Given the description of an element on the screen output the (x, y) to click on. 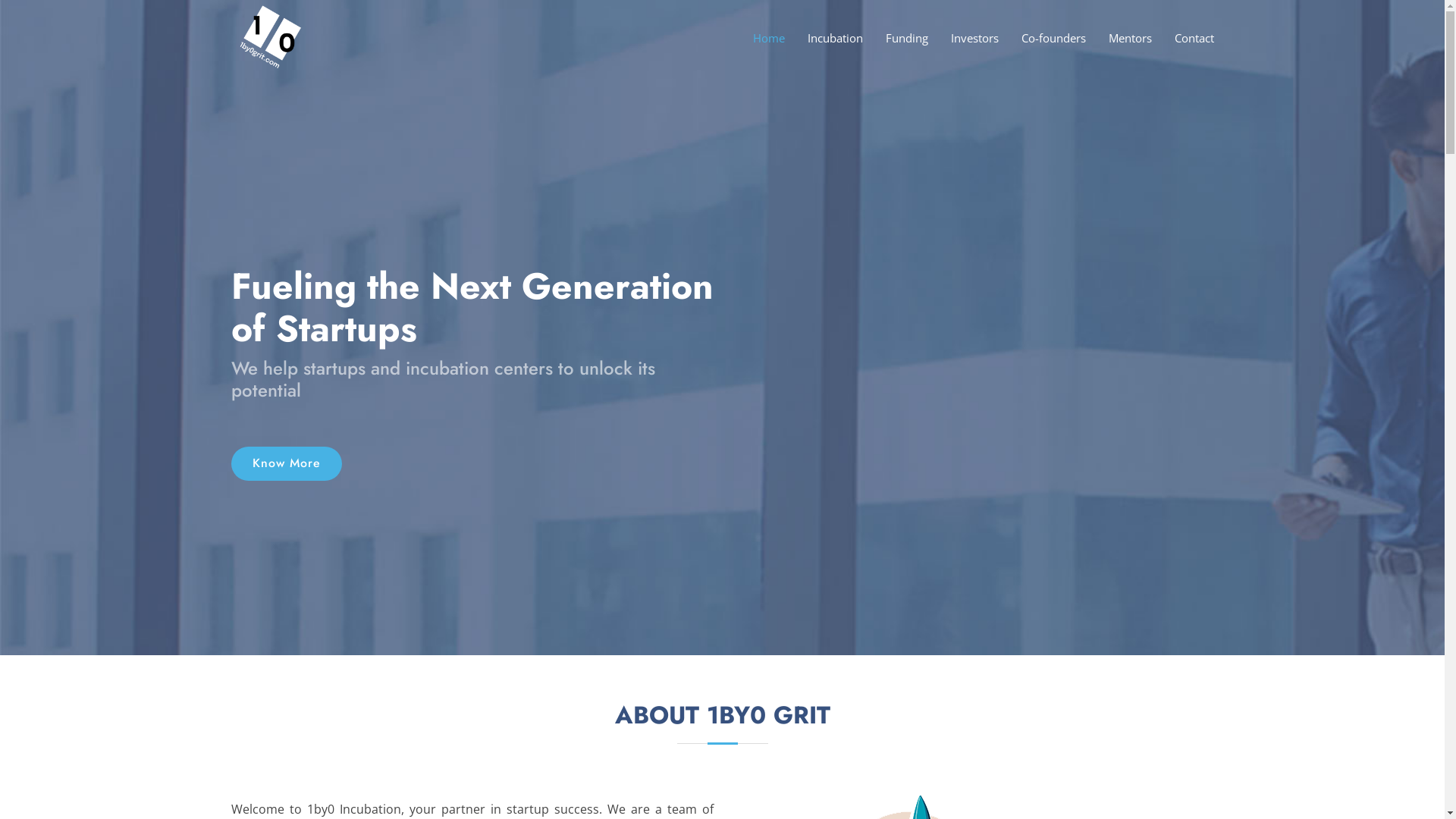
Investors Element type: text (963, 37)
Funding Element type: text (895, 37)
Mentors Element type: text (1118, 37)
Home Element type: text (756, 37)
Incubation Element type: text (823, 37)
Co-founders Element type: text (1041, 37)
Contact Element type: text (1182, 37)
Know More Element type: text (285, 463)
